Given the description of an element on the screen output the (x, y) to click on. 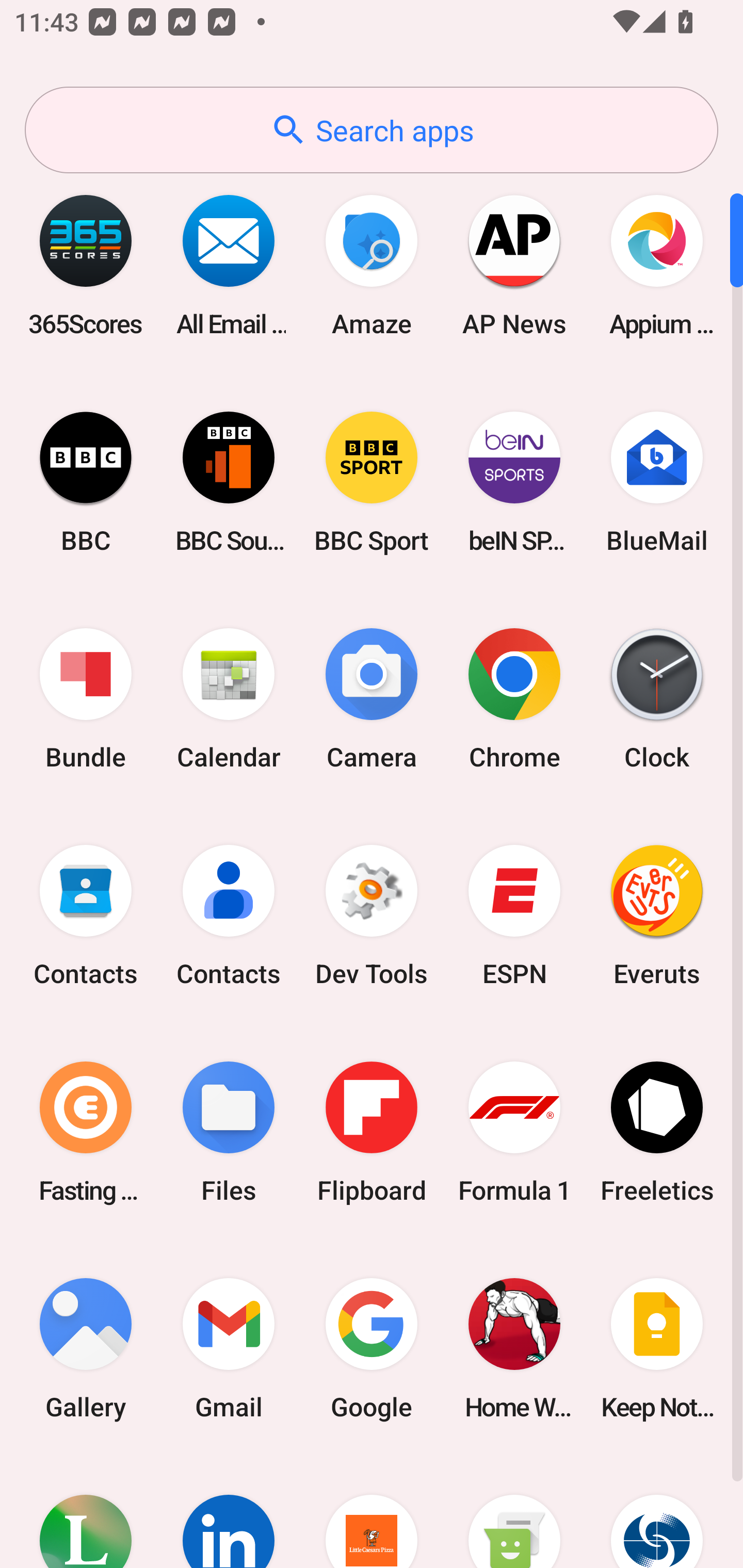
  Search apps (371, 130)
365Scores (85, 264)
All Email Connect (228, 264)
Amaze (371, 264)
AP News (514, 264)
Appium Settings (656, 264)
BBC (85, 482)
BBC Sounds (228, 482)
BBC Sport (371, 482)
beIN SPORTS (514, 482)
BlueMail (656, 482)
Bundle (85, 699)
Calendar (228, 699)
Camera (371, 699)
Chrome (514, 699)
Clock (656, 699)
Contacts (85, 915)
Contacts (228, 915)
Dev Tools (371, 915)
ESPN (514, 915)
Everuts (656, 915)
Fasting Coach (85, 1131)
Files (228, 1131)
Flipboard (371, 1131)
Formula 1 (514, 1131)
Freeletics (656, 1131)
Gallery (85, 1348)
Gmail (228, 1348)
Google (371, 1348)
Home Workout (514, 1348)
Keep Notes (656, 1348)
Lifesum (85, 1512)
LinkedIn (228, 1512)
Little Caesars Pizza (371, 1512)
Messaging (514, 1512)
MyObservatory (656, 1512)
